Given the description of an element on the screen output the (x, y) to click on. 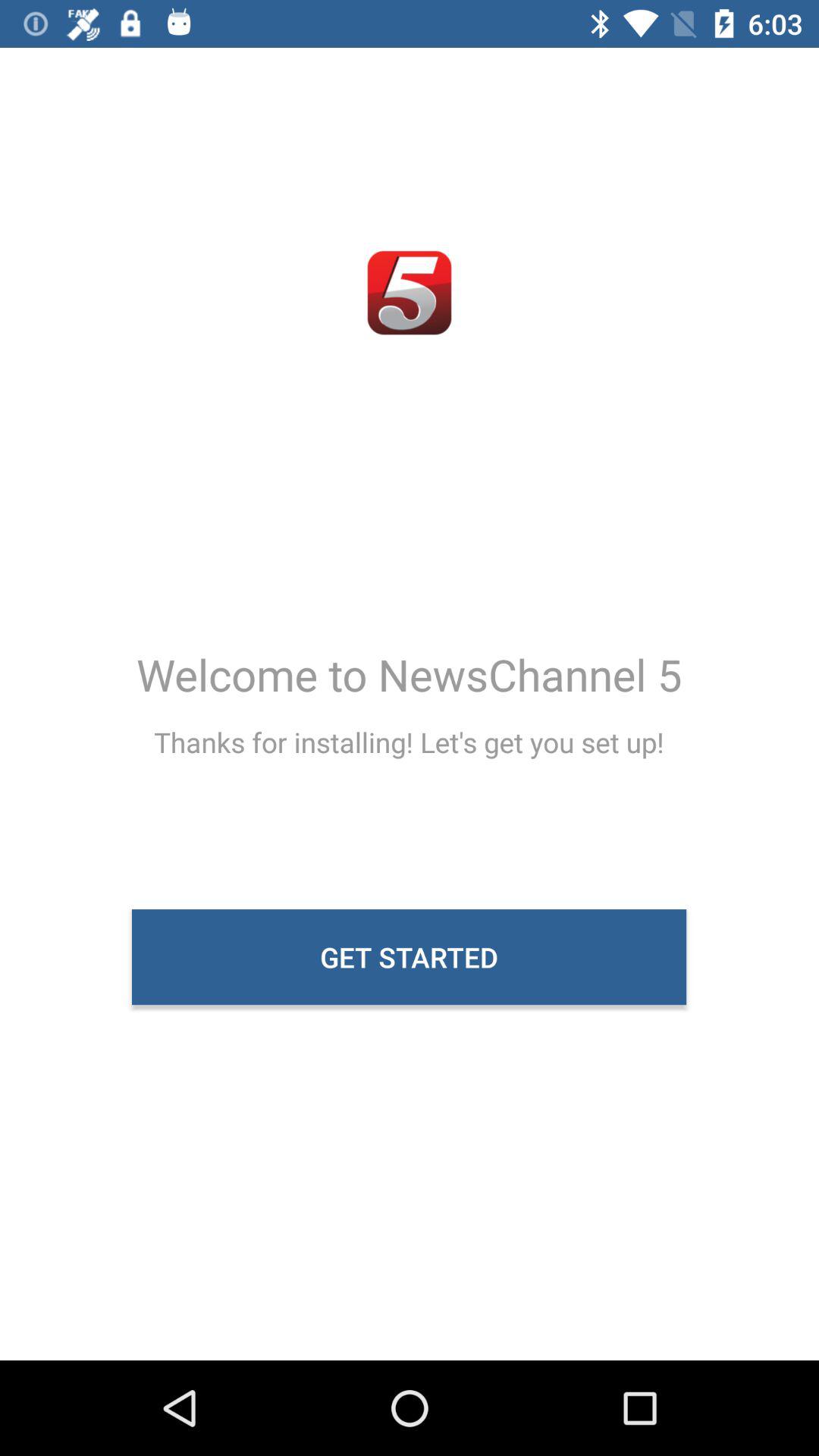
press the icon below thanks for installing icon (408, 956)
